Given the description of an element on the screen output the (x, y) to click on. 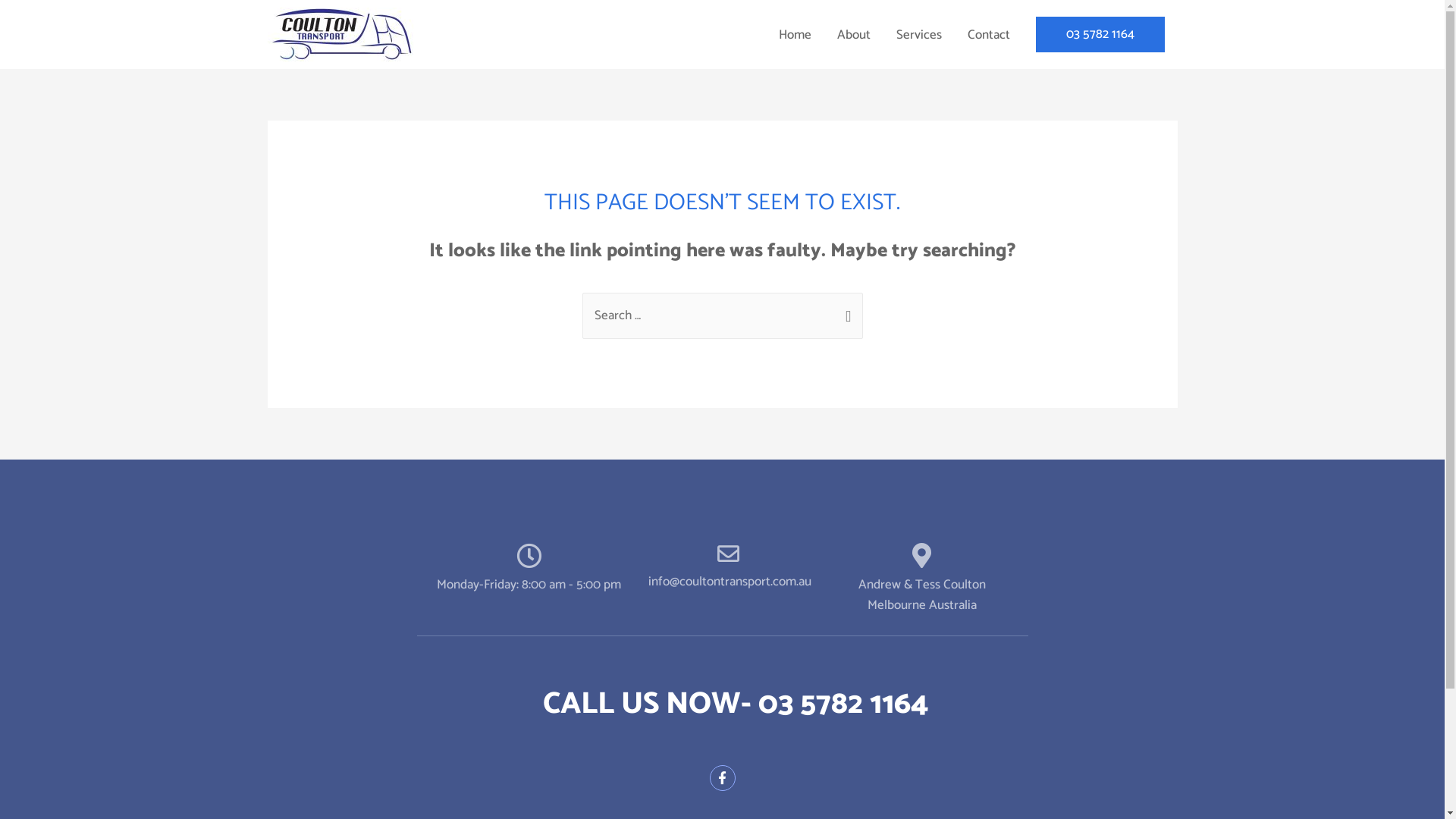
Home Element type: text (794, 34)
03 5782 1164 Element type: text (1099, 34)
About Element type: text (852, 34)
Search Element type: text (845, 308)
Contact Element type: text (987, 34)
CALL US NOW- 03 5782 1164 Element type: text (735, 704)
Services Element type: text (917, 34)
